Given the description of an element on the screen output the (x, y) to click on. 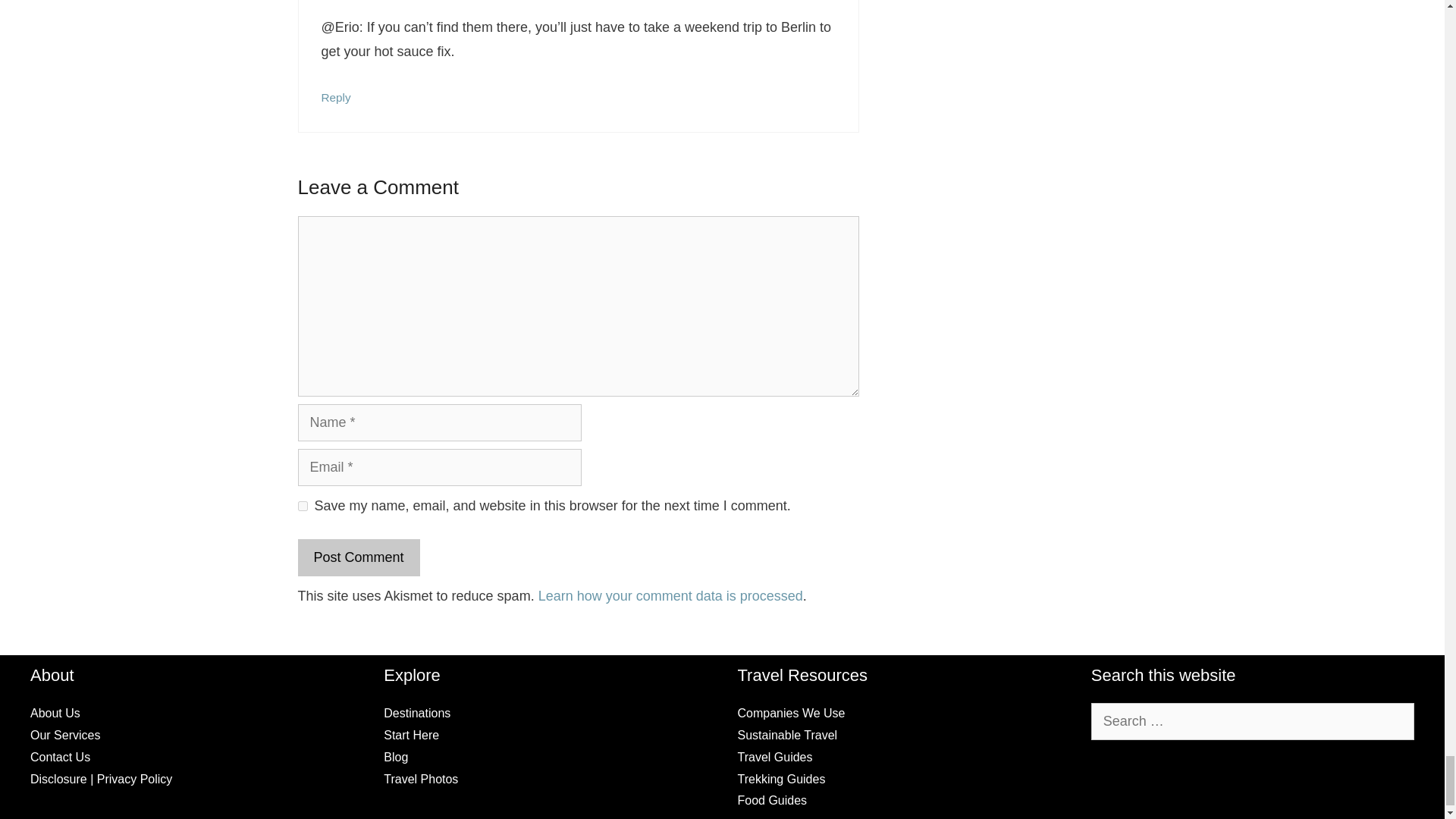
Post Comment (358, 557)
yes (302, 506)
